Given the description of an element on the screen output the (x, y) to click on. 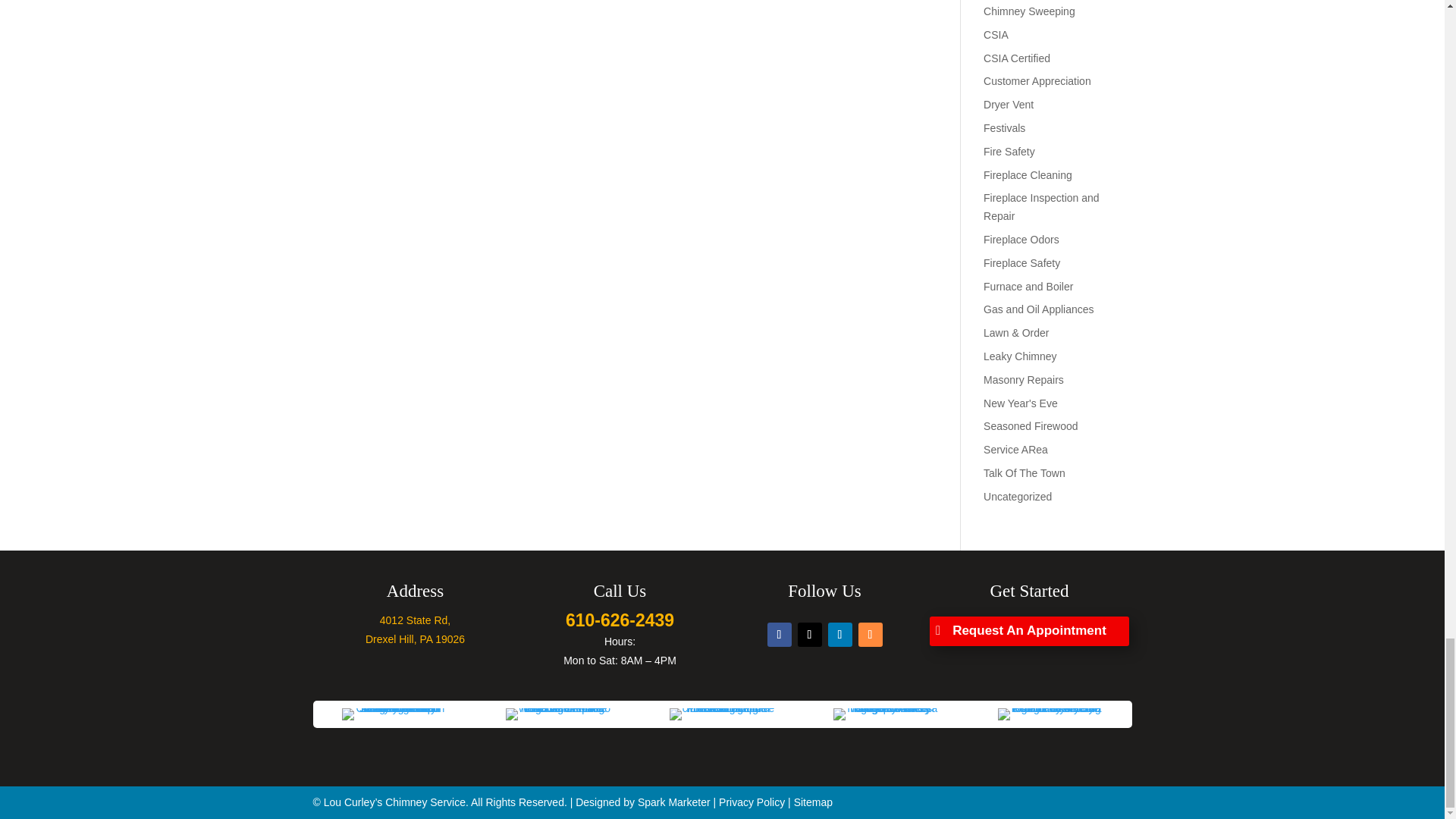
Follow on Facebook (779, 634)
Follow on RSS (870, 634)
The systems and people to help local service businesses win. (673, 802)
Google Map (414, 639)
Google Map (414, 620)
Follow on X (809, 634)
Follow on LinkedIn (839, 634)
